Given the description of an element on the screen output the (x, y) to click on. 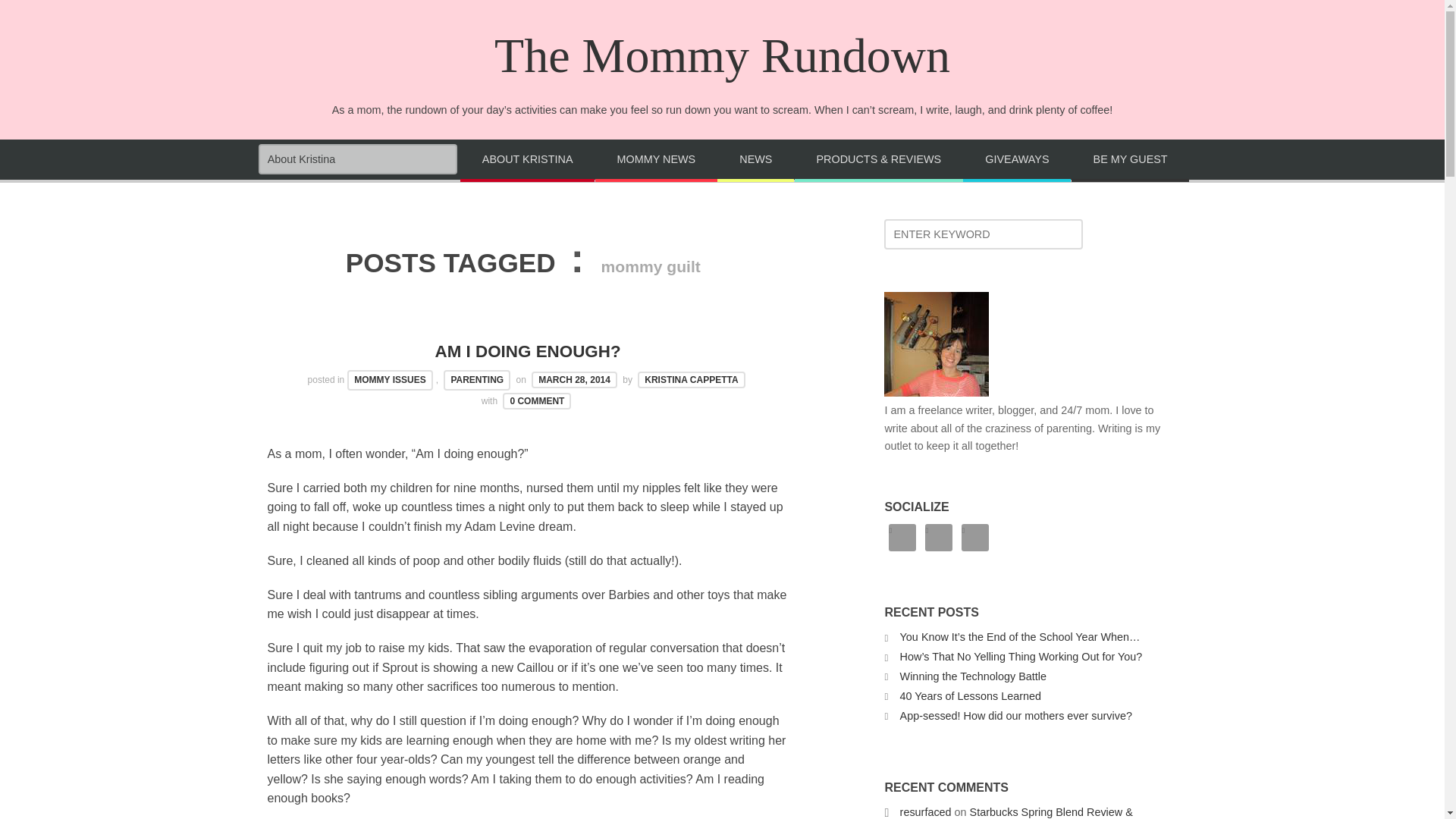
ABOUT KRISTINA (527, 160)
App-sessed! How did our mothers ever survive? (1015, 715)
resurfaced (925, 811)
Search (46, 16)
AM I DOING ENOUGH? (528, 351)
Winning the Technology Battle (972, 676)
BE MY GUEST (1130, 160)
6:02 am (574, 379)
PARENTING (477, 380)
NEWS (755, 160)
